Given the description of an element on the screen output the (x, y) to click on. 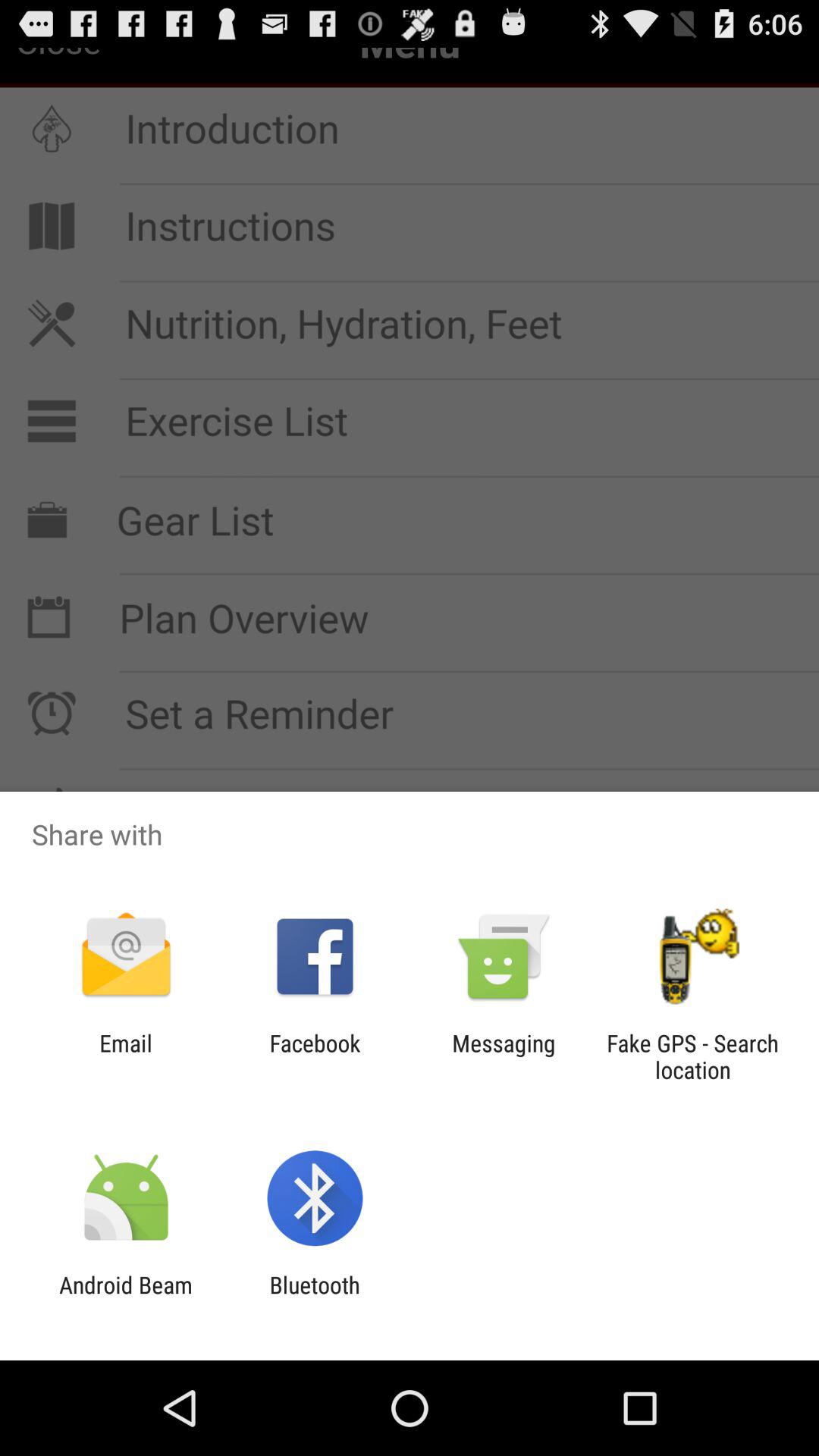
turn on the icon next to the messaging item (692, 1056)
